Given the description of an element on the screen output the (x, y) to click on. 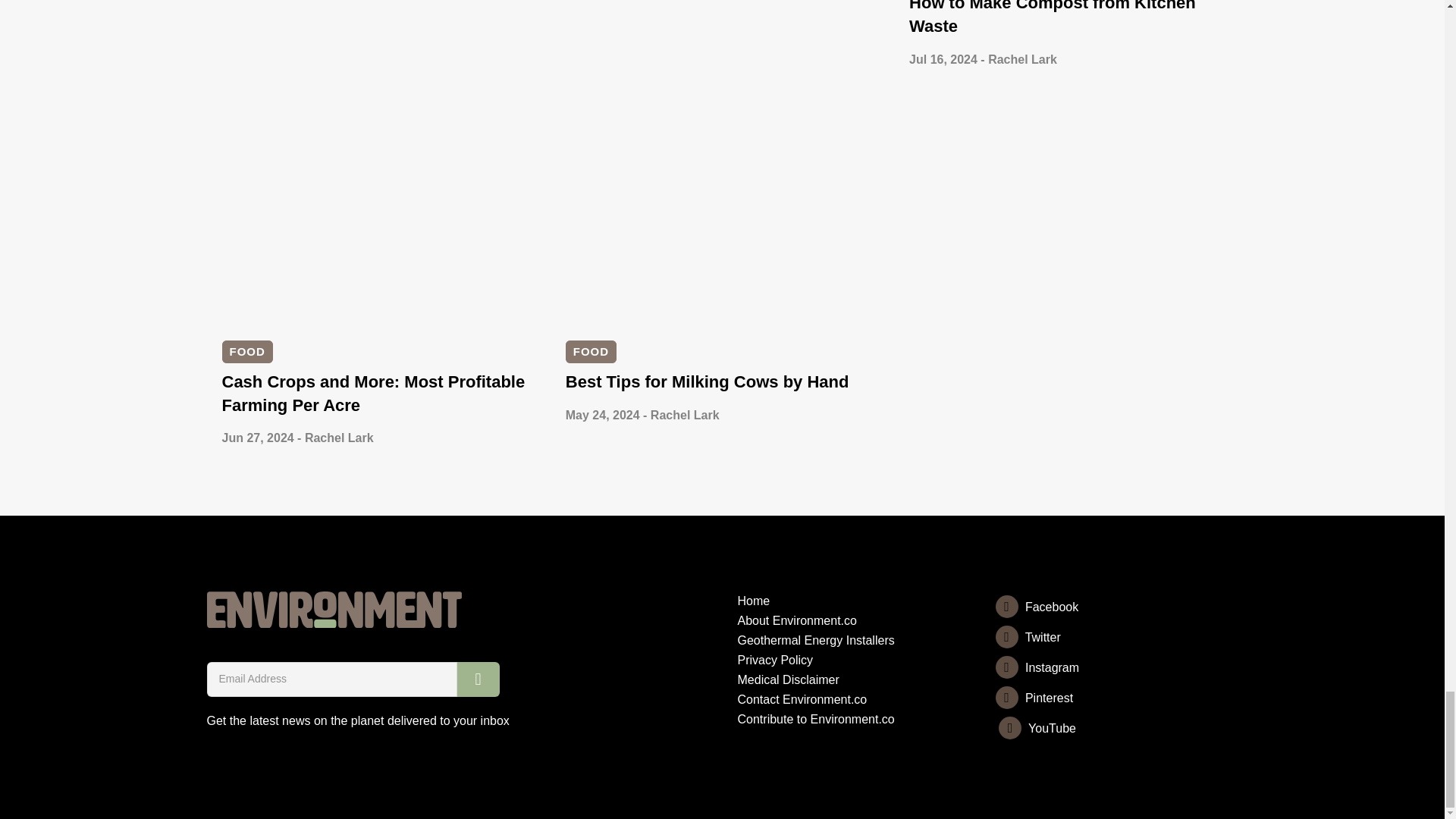
Cash Crops and More: Most Profitable Farming Per Acre (372, 393)
How to Make Compost from Kitchen Waste (1051, 18)
Best Tips for Milking Cows by Hand (707, 381)
